Given the description of an element on the screen output the (x, y) to click on. 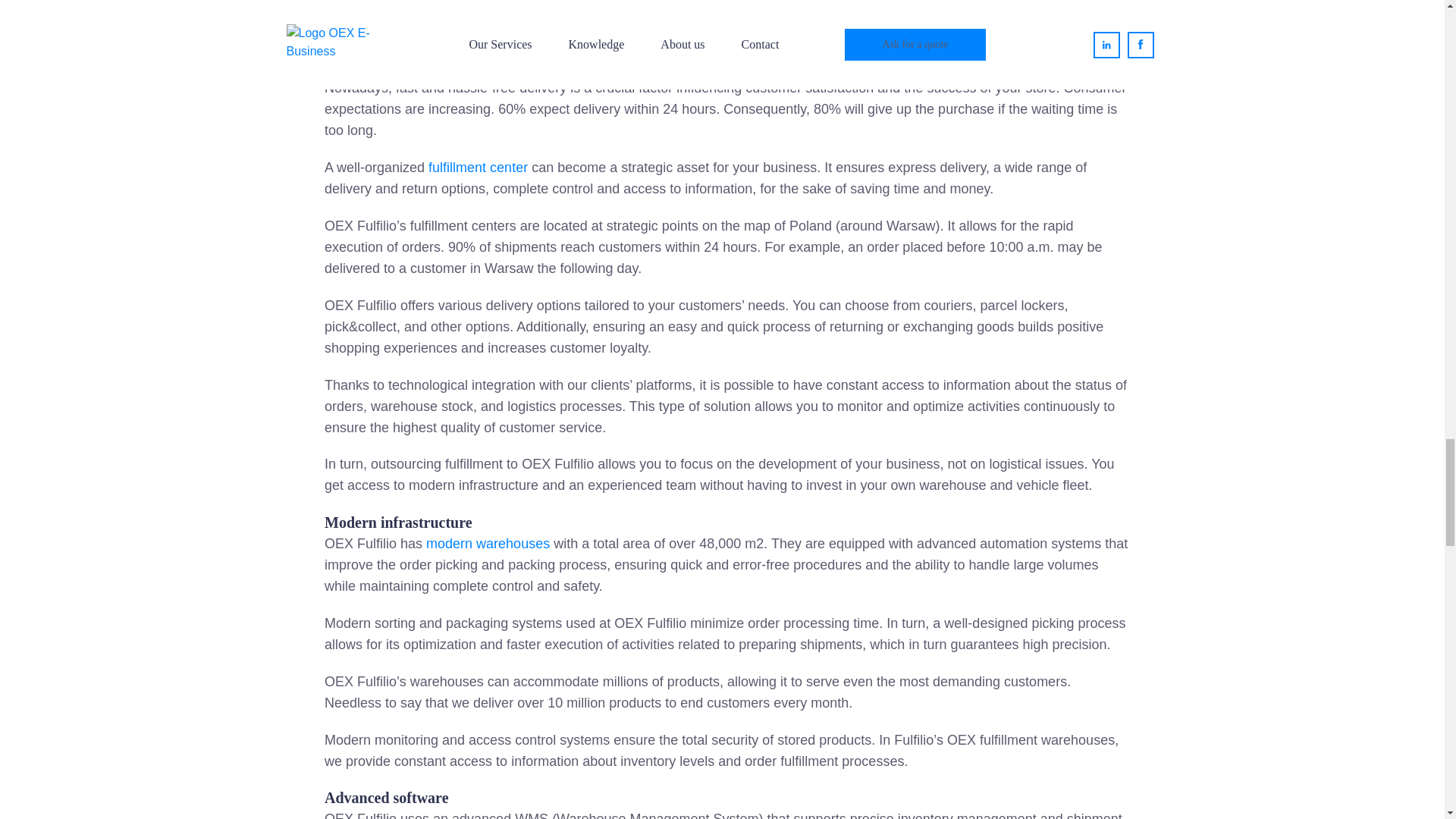
fulfillment center (477, 167)
modern warehouses (488, 543)
